Given the description of an element on the screen output the (x, y) to click on. 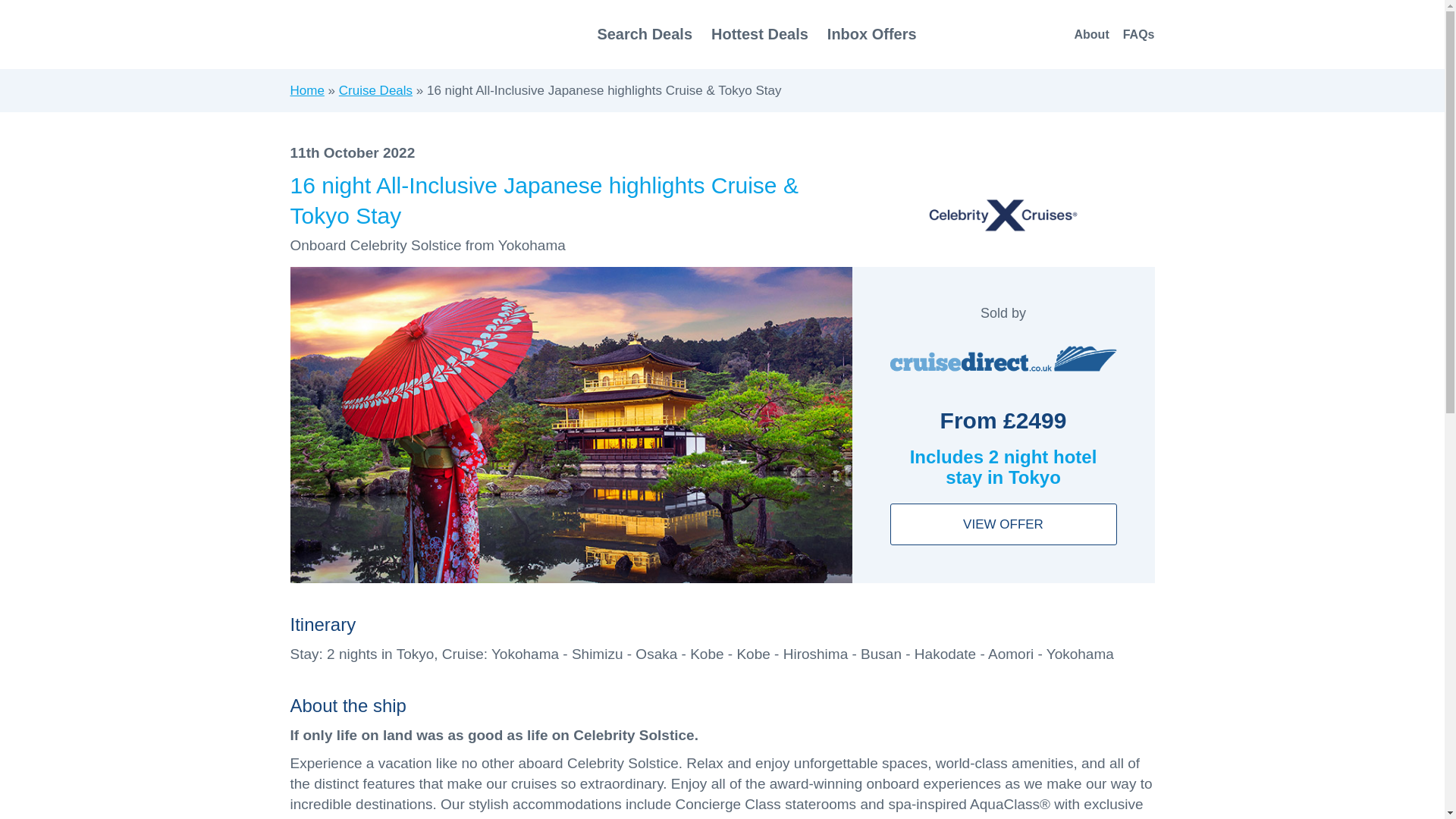
VIEW OFFER (1002, 524)
Cruise Deals (375, 90)
Search Deals (644, 33)
Hello Cruise (380, 33)
Hottest Deals (759, 33)
Inbox Offers (872, 33)
About (1091, 33)
Home (306, 90)
FAQs (1138, 33)
